Given the description of an element on the screen output the (x, y) to click on. 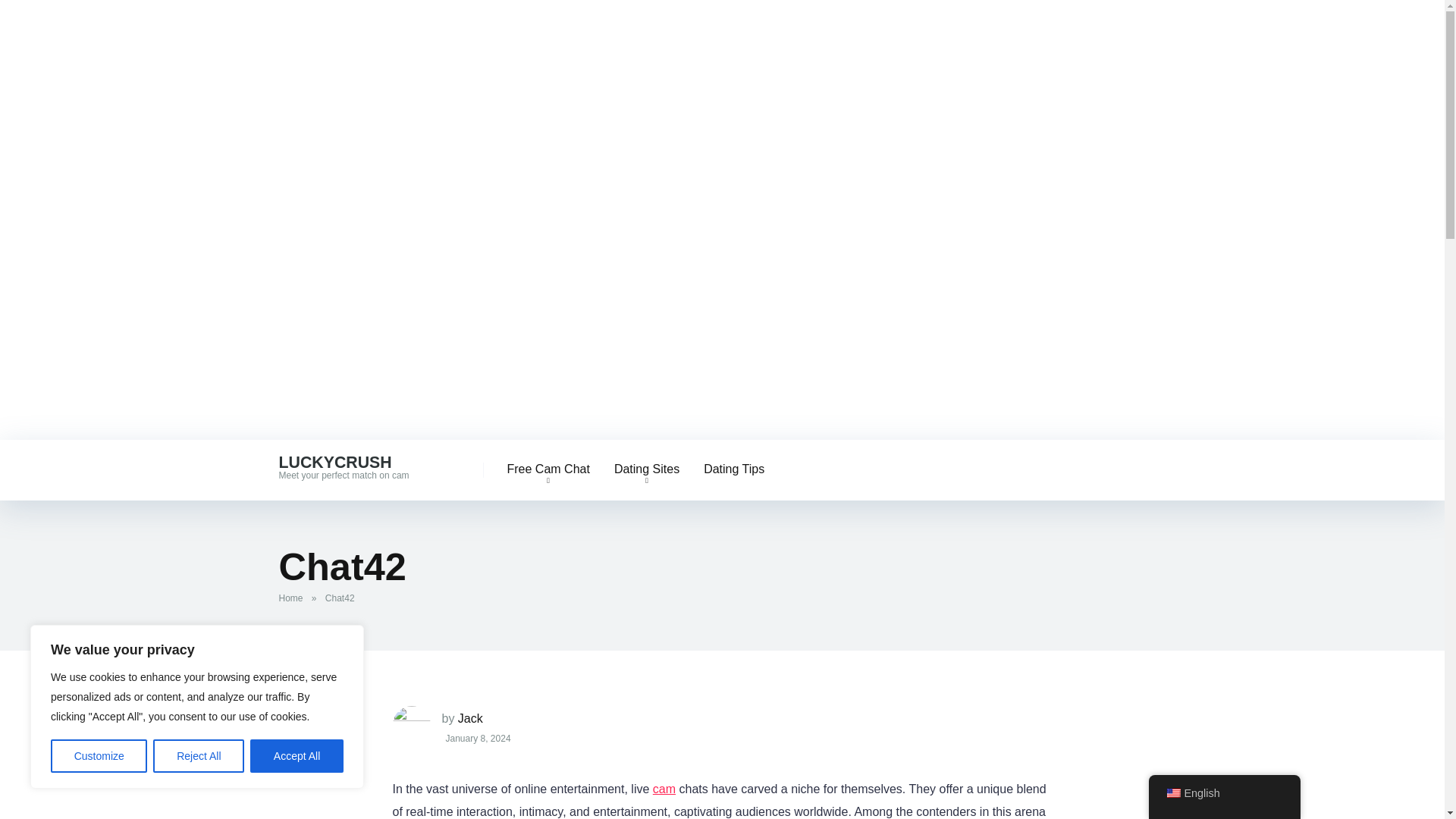
cam (663, 788)
Home (293, 597)
Jack (470, 717)
Customize (98, 756)
Posts by Jack (470, 717)
LuckyCrush (335, 456)
LUCKYCRUSH (335, 456)
Dating Tips (733, 469)
Free Cam Chat (548, 469)
English (1172, 792)
